Given the description of an element on the screen output the (x, y) to click on. 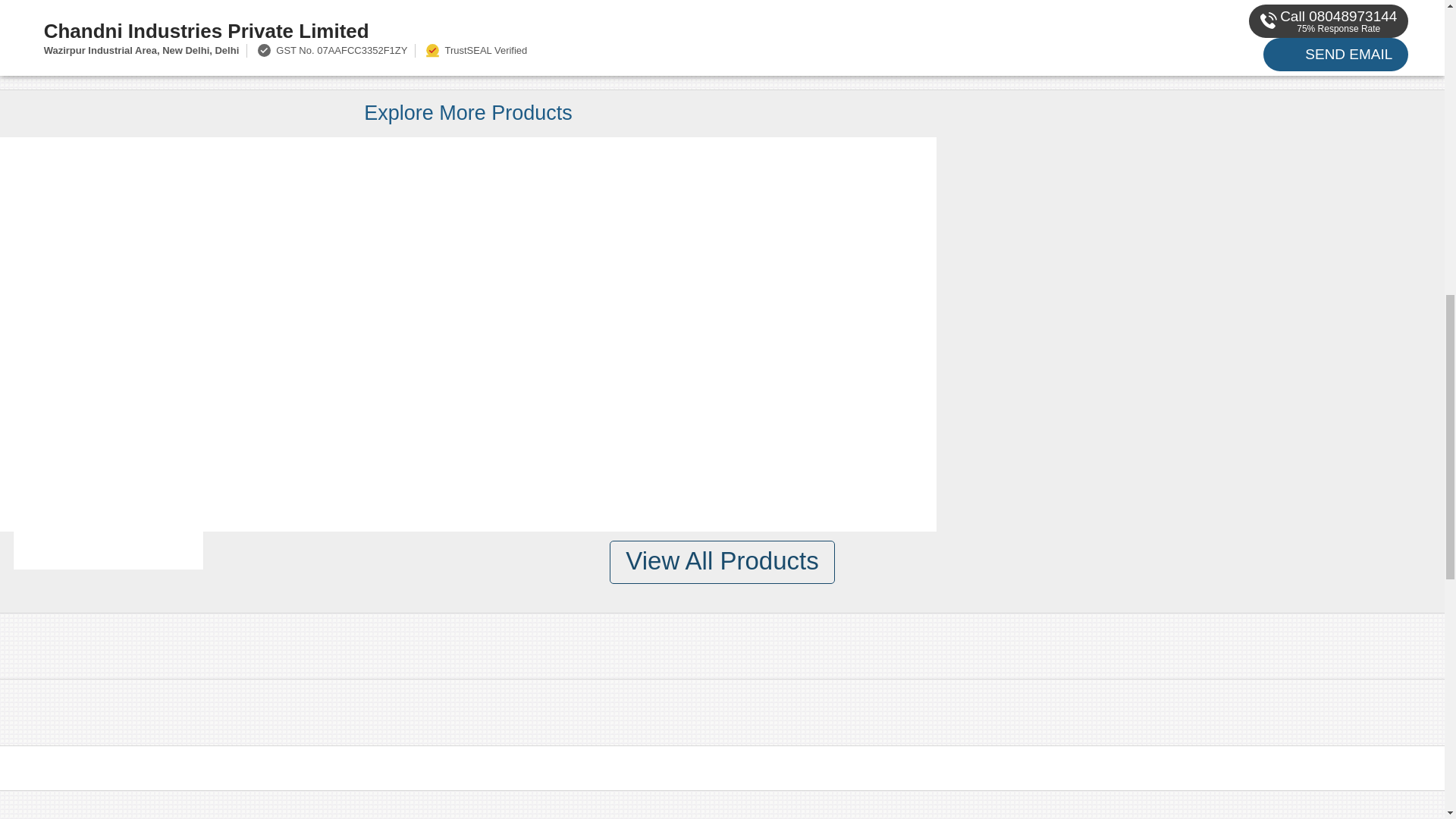
Regal 555 Playing Cards (108, 309)
View All Products (722, 561)
